Given the description of an element on the screen output the (x, y) to click on. 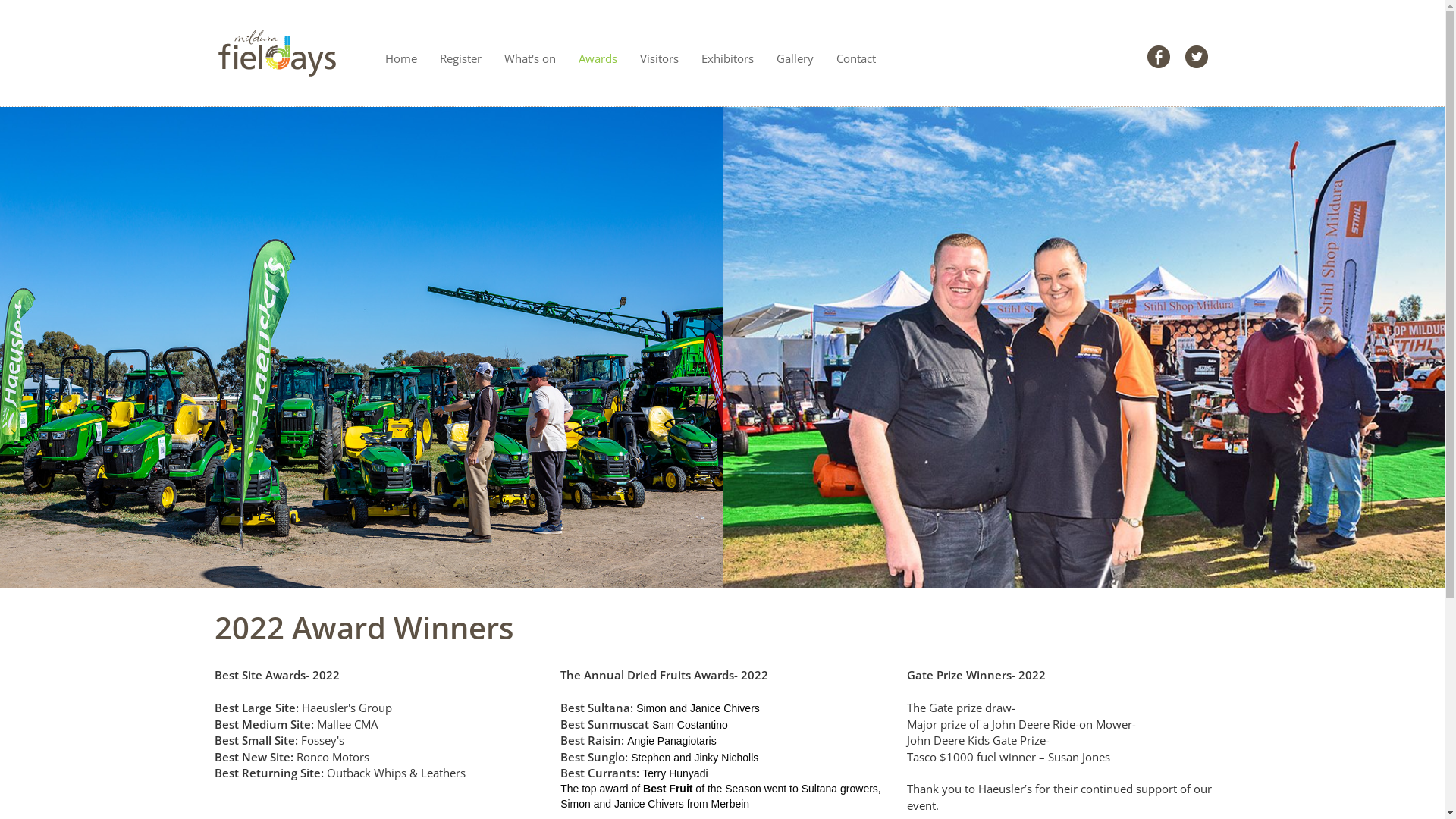
What's on Element type: text (529, 53)
Exhibitors Element type: text (727, 53)
Visitors Element type: text (658, 53)
Contact Element type: text (856, 53)
Register Element type: text (459, 53)
Awards Element type: text (597, 53)
Home Element type: text (400, 53)
Gallery Element type: text (794, 53)
